Given the description of an element on the screen output the (x, y) to click on. 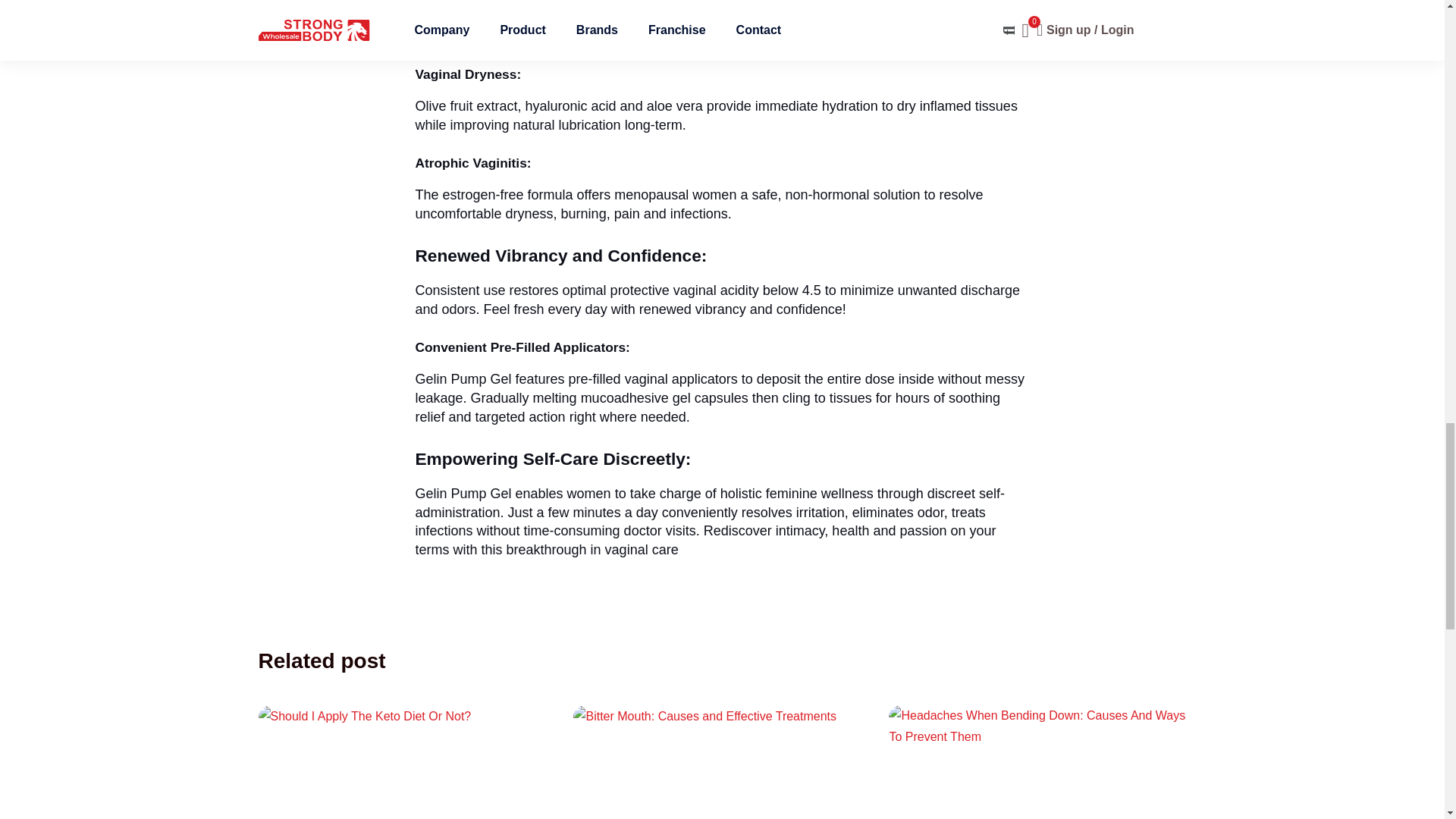
Should I Apply The Keto Diet Or Not? (363, 716)
Headaches When Bending Down: Causes And Ways To Prevent Them (1037, 726)
Bitter Mouth: Causes and Effective Treatments (704, 716)
